Given the description of an element on the screen output the (x, y) to click on. 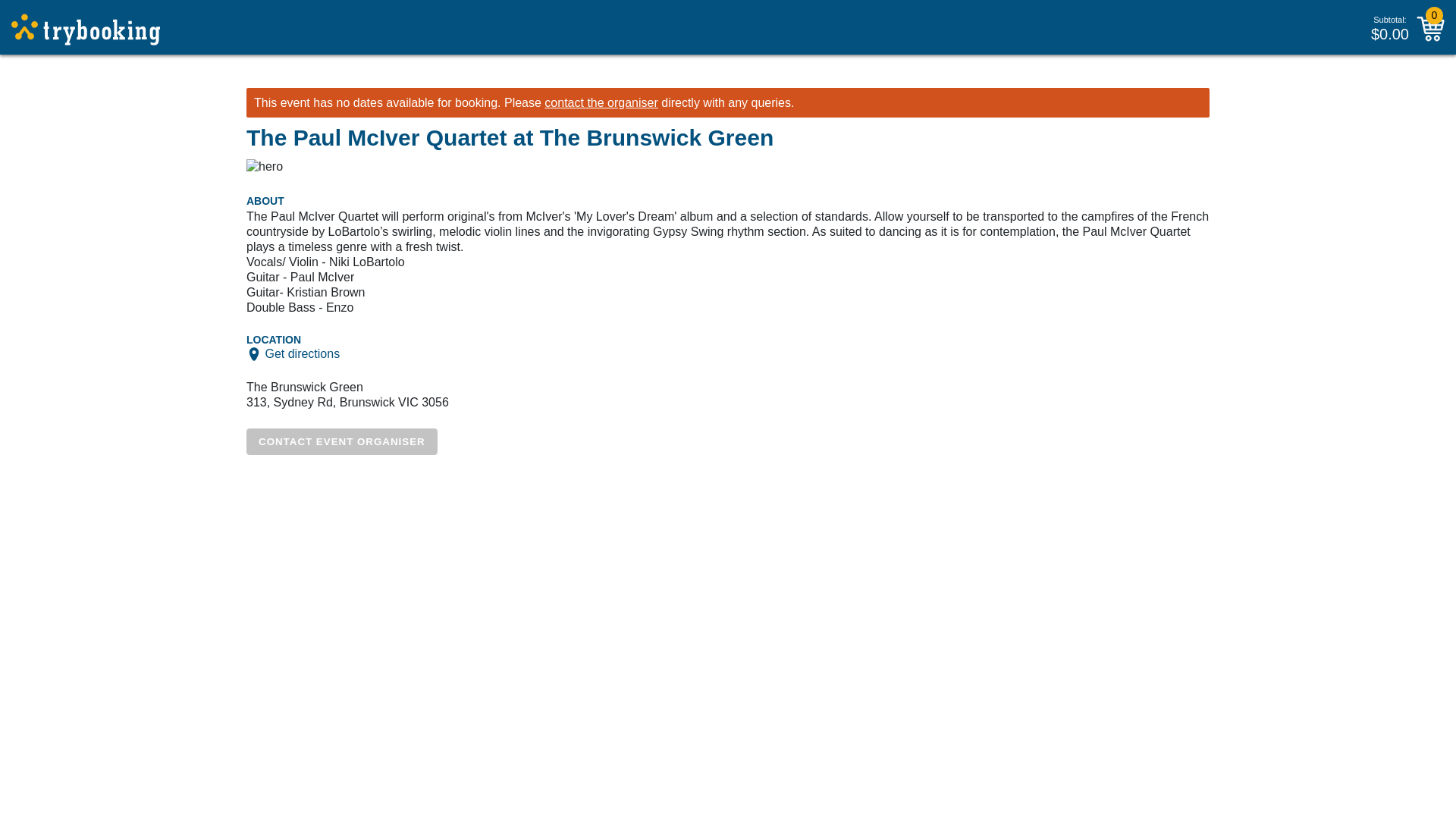
TryBooking (85, 29)
Get directions (301, 353)
CONTACT EVENT ORGANISER (342, 441)
contact the organiser (601, 102)
